Given the description of an element on the screen output the (x, y) to click on. 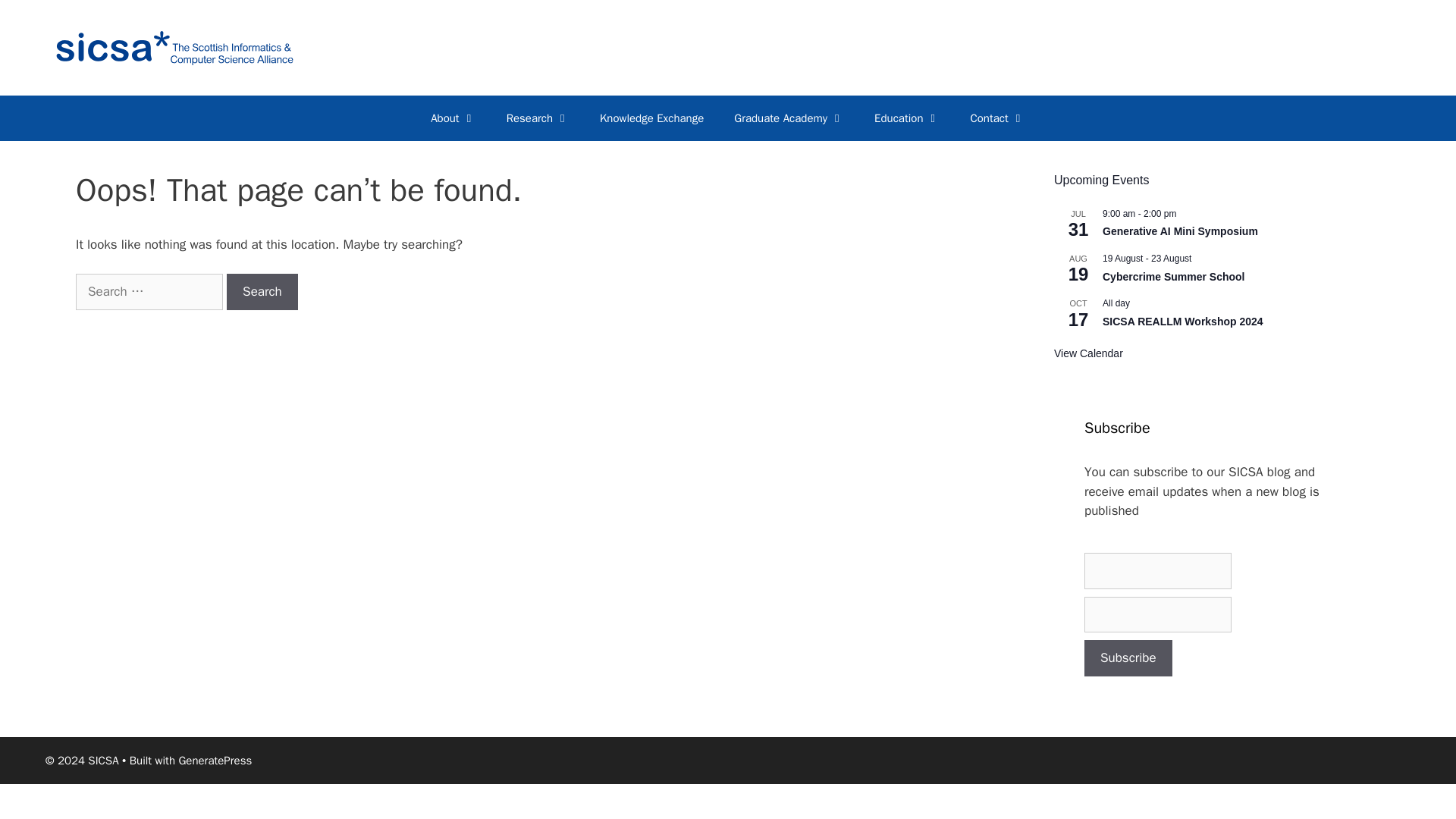
Subscribe (1128, 657)
Cybercrime Summer School (1173, 276)
SICSA REALLM Workshop 2024 (1182, 321)
Cybercrime Summer School (1173, 276)
Generative AI Mini Symposium (1179, 231)
SICSA REALLM Workshop 2024 (1182, 321)
Knowledge Exchange (652, 117)
View more events. (1088, 353)
Contact (997, 117)
Research (538, 117)
Generative AI Mini Symposium (1179, 231)
Search (262, 291)
View Calendar (1088, 353)
Graduate Academy (789, 117)
Search for: (148, 291)
